Given the description of an element on the screen output the (x, y) to click on. 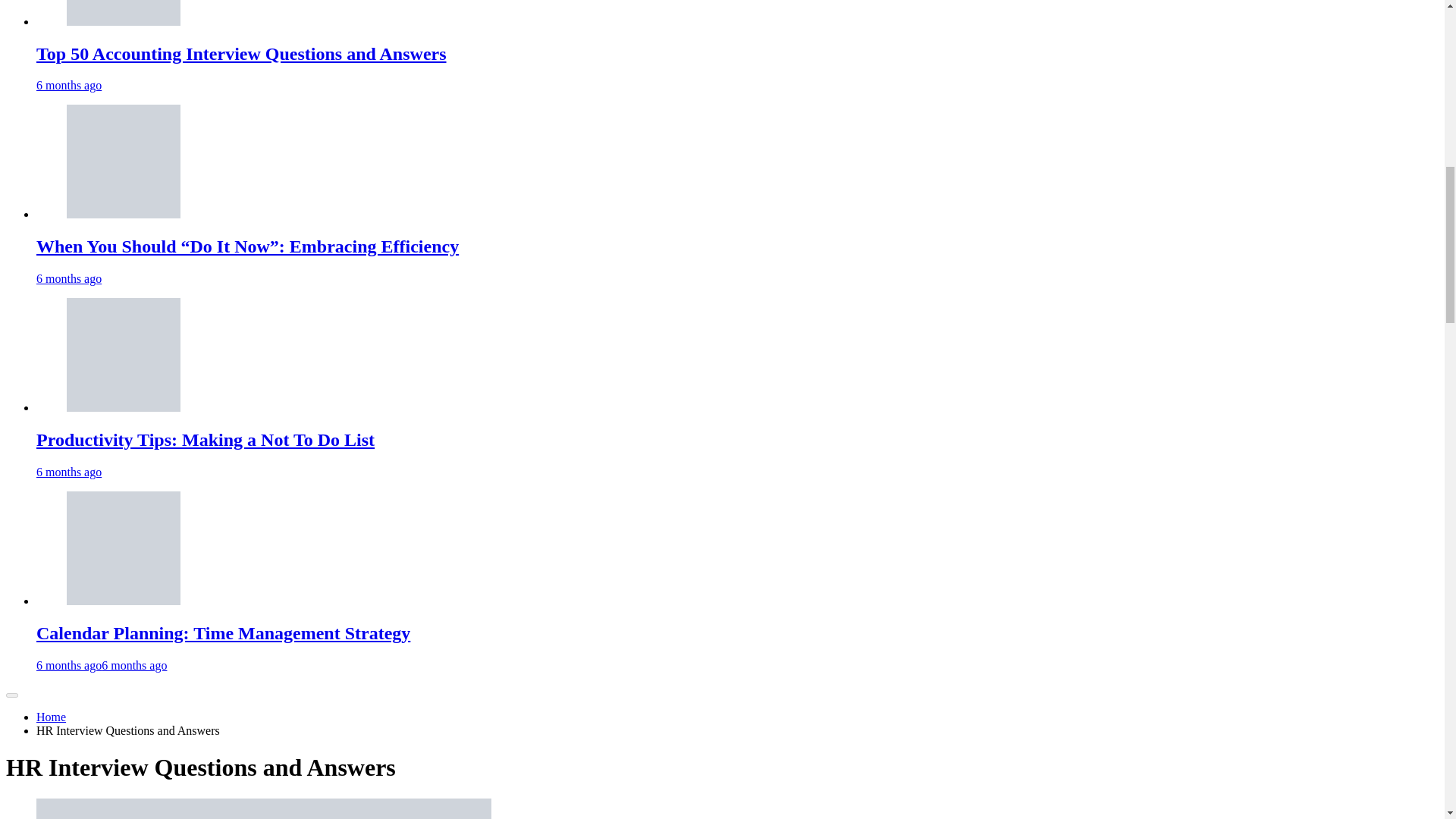
Calendar Planning: Time Management Strategy (223, 632)
6 months ago (68, 278)
6 months ago6 months ago (101, 665)
Top 50 Accounting Interview Questions and Answers (123, 12)
Top 50 Accounting Interview Questions and Answers (241, 53)
6 months ago (68, 84)
Top 50 Accounting Interview Questions and Answers (241, 53)
Top 50 Accounting Interview Questions and Answers (123, 21)
6 months ago (68, 472)
Home (50, 716)
